Given the description of an element on the screen output the (x, y) to click on. 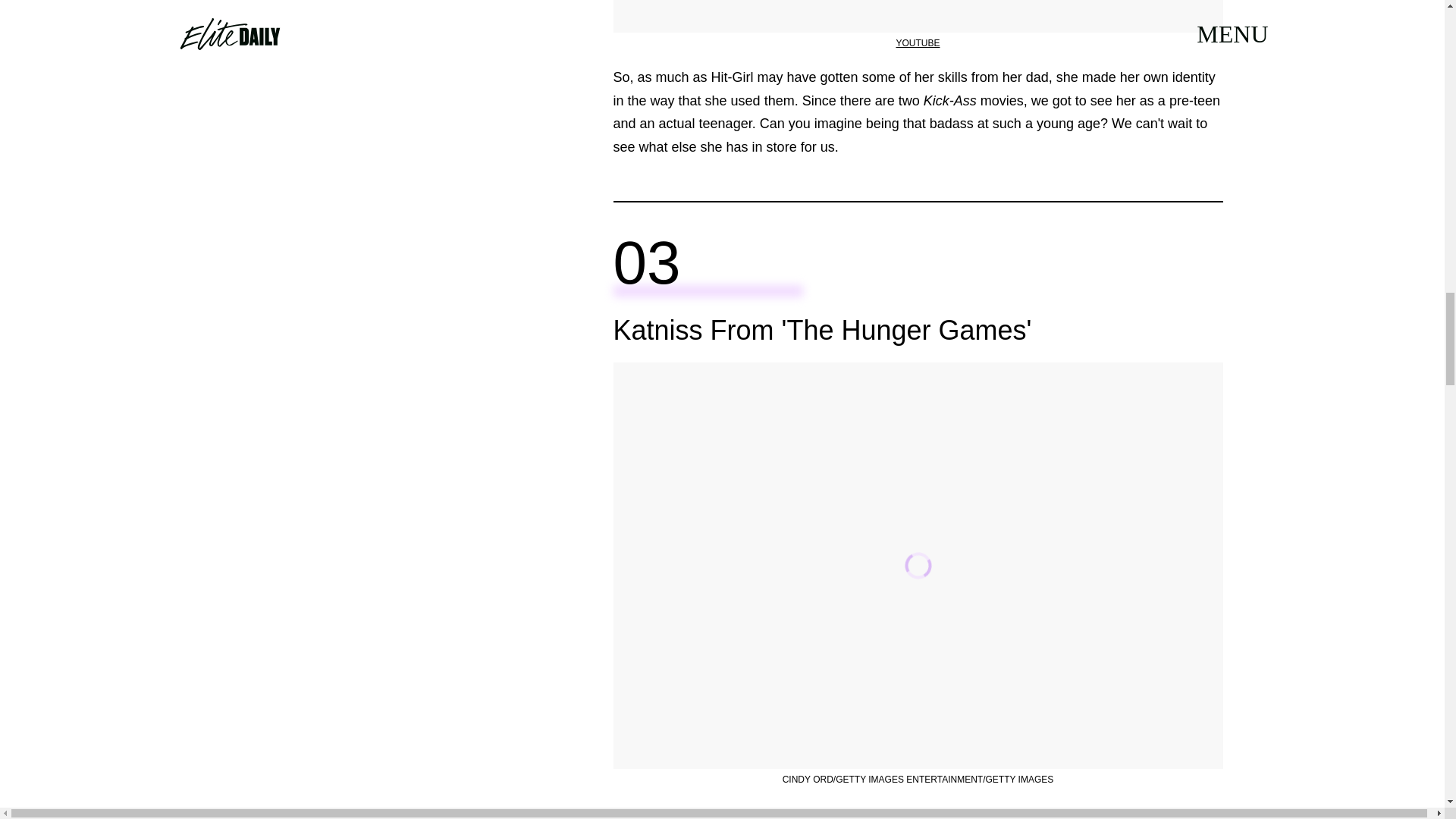
YOUTUBE (917, 42)
